Given the description of an element on the screen output the (x, y) to click on. 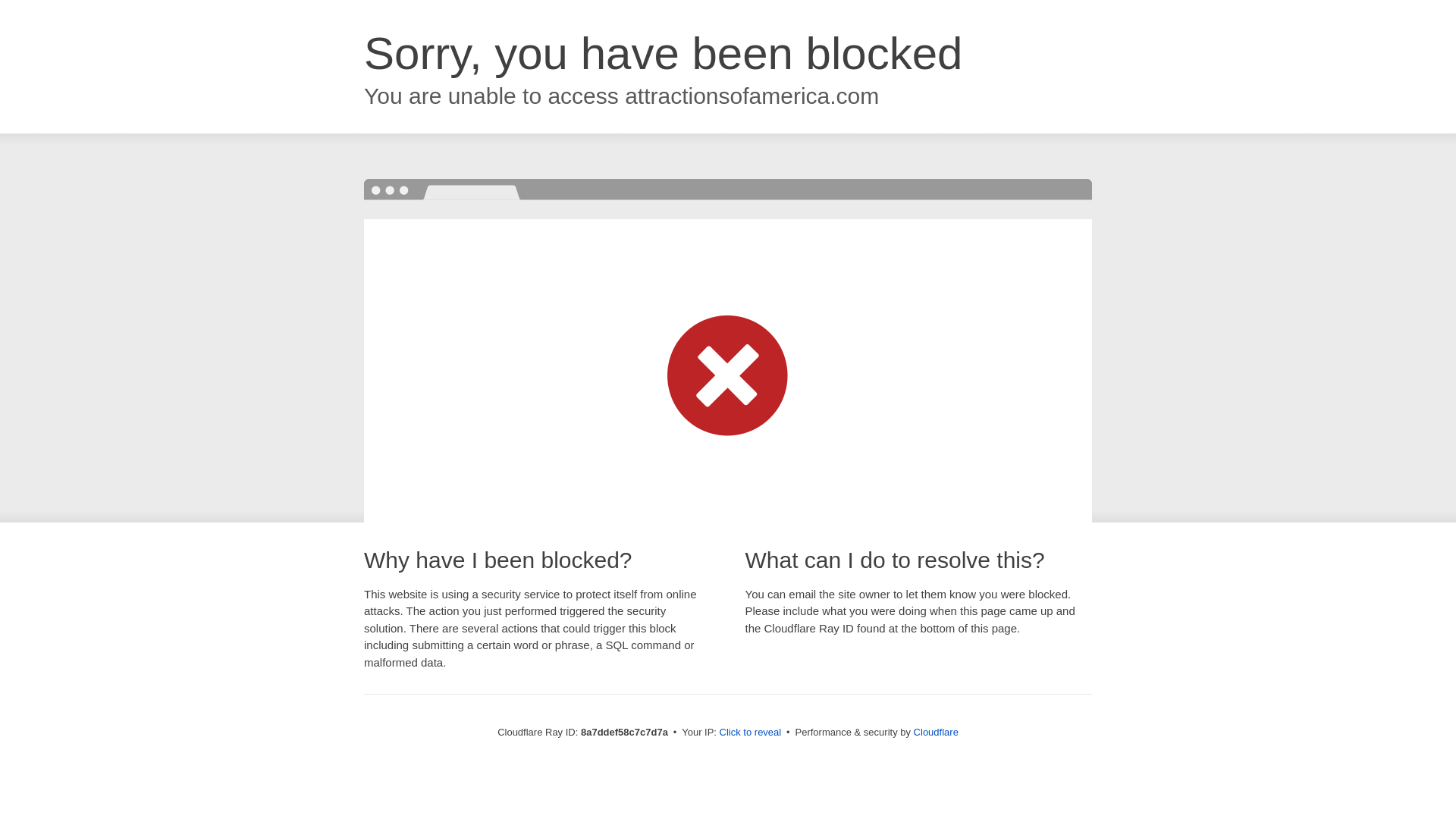
Cloudflare (936, 731)
Click to reveal (750, 732)
